Given the description of an element on the screen output the (x, y) to click on. 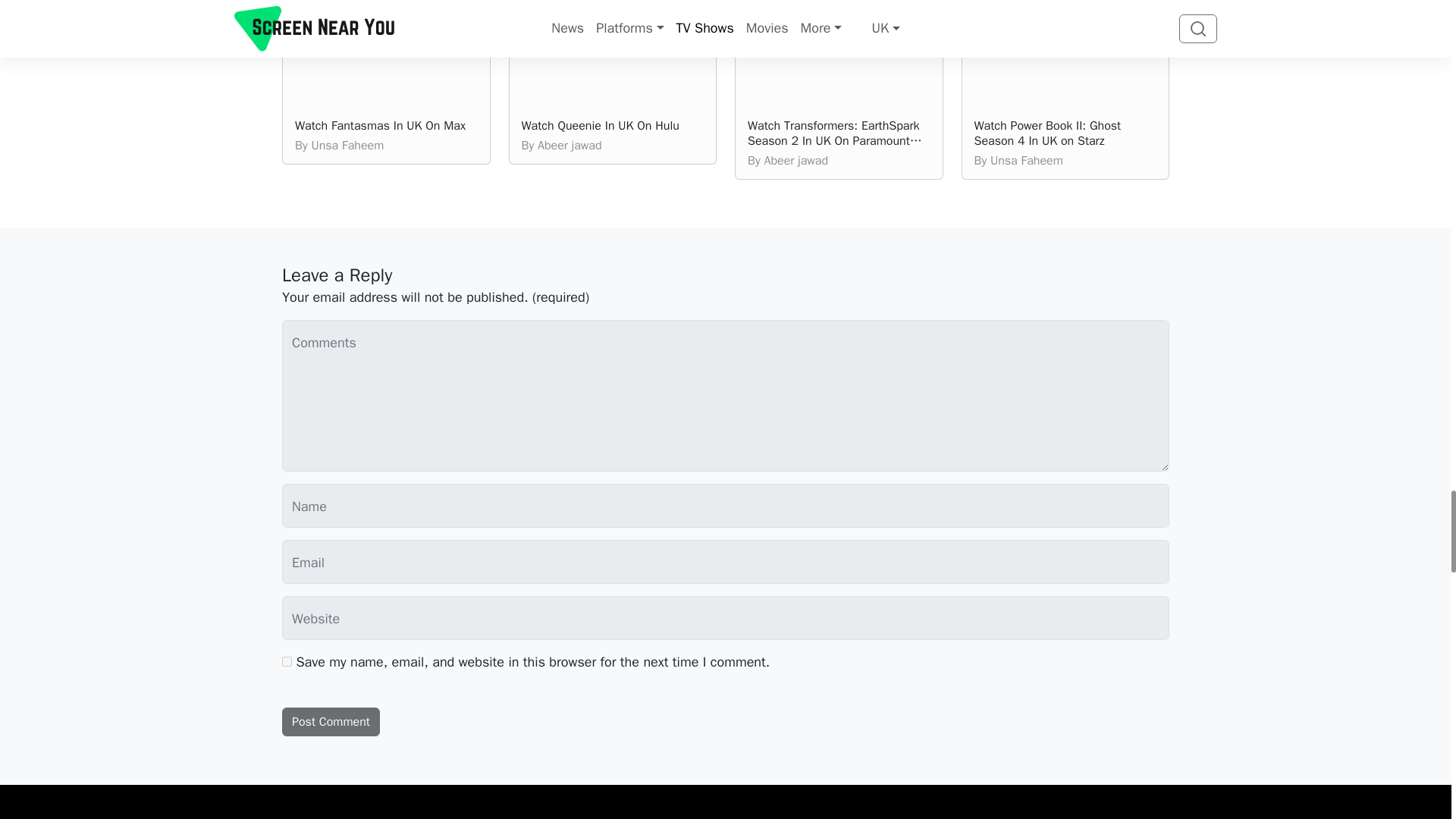
Post Comment (331, 721)
yes (287, 661)
